Given the description of an element on the screen output the (x, y) to click on. 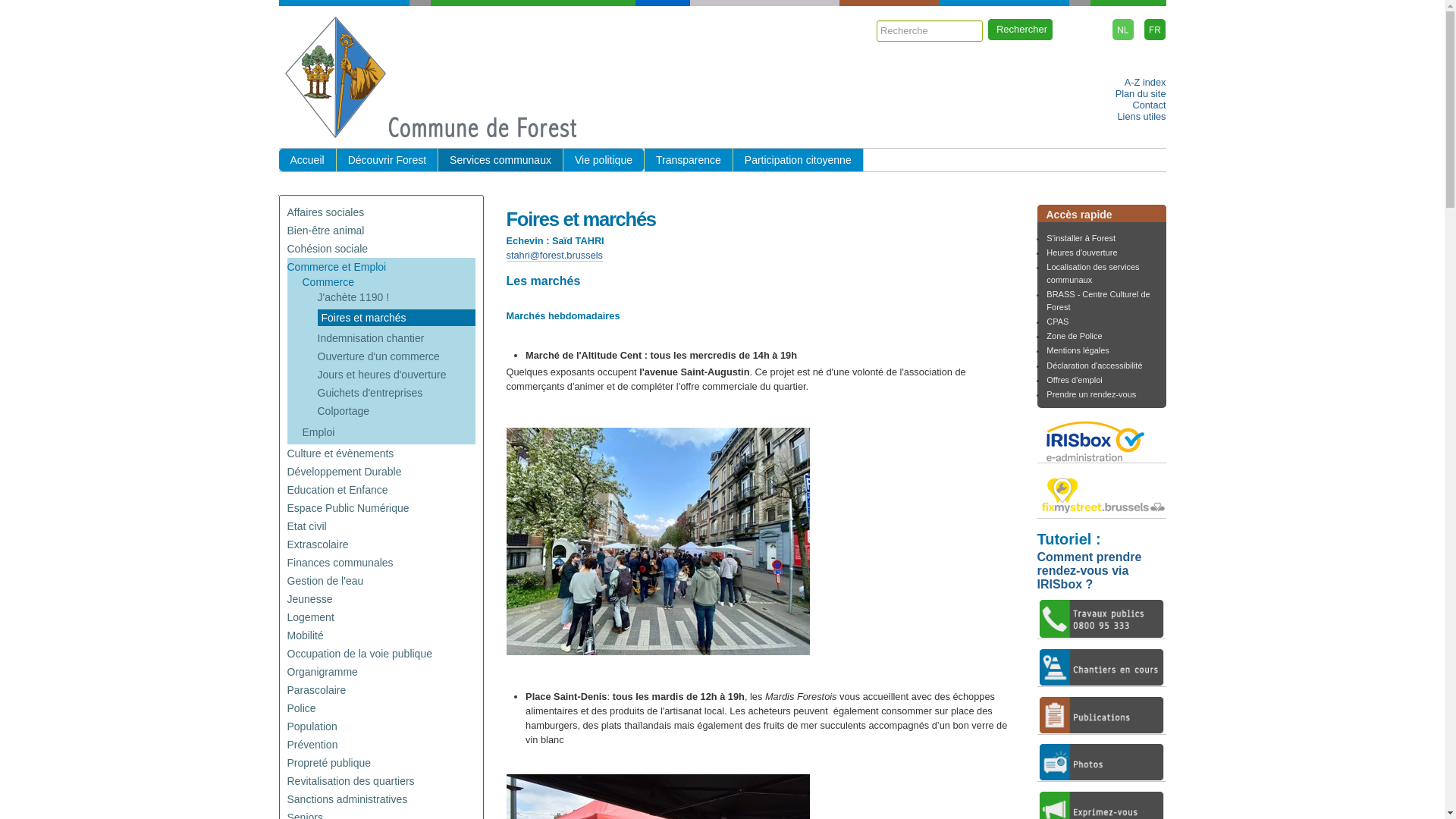
Offres d'emploi Element type: text (1073, 379)
Emploi Element type: text (317, 432)
Parascolaire Element type: text (315, 690)
Transparence Element type: text (688, 159)
Affaires sociales Element type: text (325, 212)
Vie politique Element type: text (603, 159)
Liens utiles Element type: text (1141, 116)
A-Z index Element type: text (1145, 81)
Finances communales Element type: text (339, 562)
Prendre un rendez-vous Element type: text (1090, 393)
Jeunesse Element type: text (309, 599)
Etat civil Element type: text (306, 526)
photos Element type: hover (1101, 762)
Population Element type: text (311, 726)
Rechercher Element type: text (1020, 29)
Commerce et Emploi Element type: text (335, 266)
Localisation des services communaux Element type: text (1092, 273)
Gestion de l'eau Element type: text (324, 580)
Extrascolaire Element type: text (317, 544)
Sanctions administratives Element type: text (346, 799)
Recherche Element type: hover (929, 30)
Colportage Element type: text (342, 410)
Heures d'ouverture Element type: text (1081, 252)
travaux publics Element type: hover (1101, 618)
Plan du site Element type: text (1140, 93)
chantiers en cours Element type: hover (1101, 667)
fixmystreet Element type: hover (1101, 494)
Police Element type: text (300, 708)
Services communaux Element type: text (500, 159)
Accueil Element type: text (307, 159)
Indemnisation chantier Element type: text (369, 338)
Occupation de la voie publique Element type: text (358, 653)
stahri@forest.brussels Element type: text (554, 255)
Organigramme Element type: text (321, 671)
Commerce Element type: text (327, 282)
Contact Element type: text (1148, 104)
publications Element type: hover (1101, 715)
Comment prendre rendez-vous via IRISbox ? Element type: text (1089, 570)
Ouverture d'un commerce Element type: text (377, 356)
Jours et heures d'ouverture Element type: text (380, 374)
BRASS - Centre Culturel de Forest Element type: text (1097, 300)
Education et Enfance Element type: text (336, 489)
Logement Element type: text (309, 617)
CPAS Element type: text (1057, 321)
Zone de Police Element type: text (1073, 335)
Revitalisation des quartiers Element type: text (350, 781)
IRISbox Element type: hover (1101, 439)
Guichets d'entreprises Element type: text (369, 392)
Participation citoyenne Element type: text (798, 159)
Nederlands Element type: hover (1122, 29)
